Given the description of an element on the screen output the (x, y) to click on. 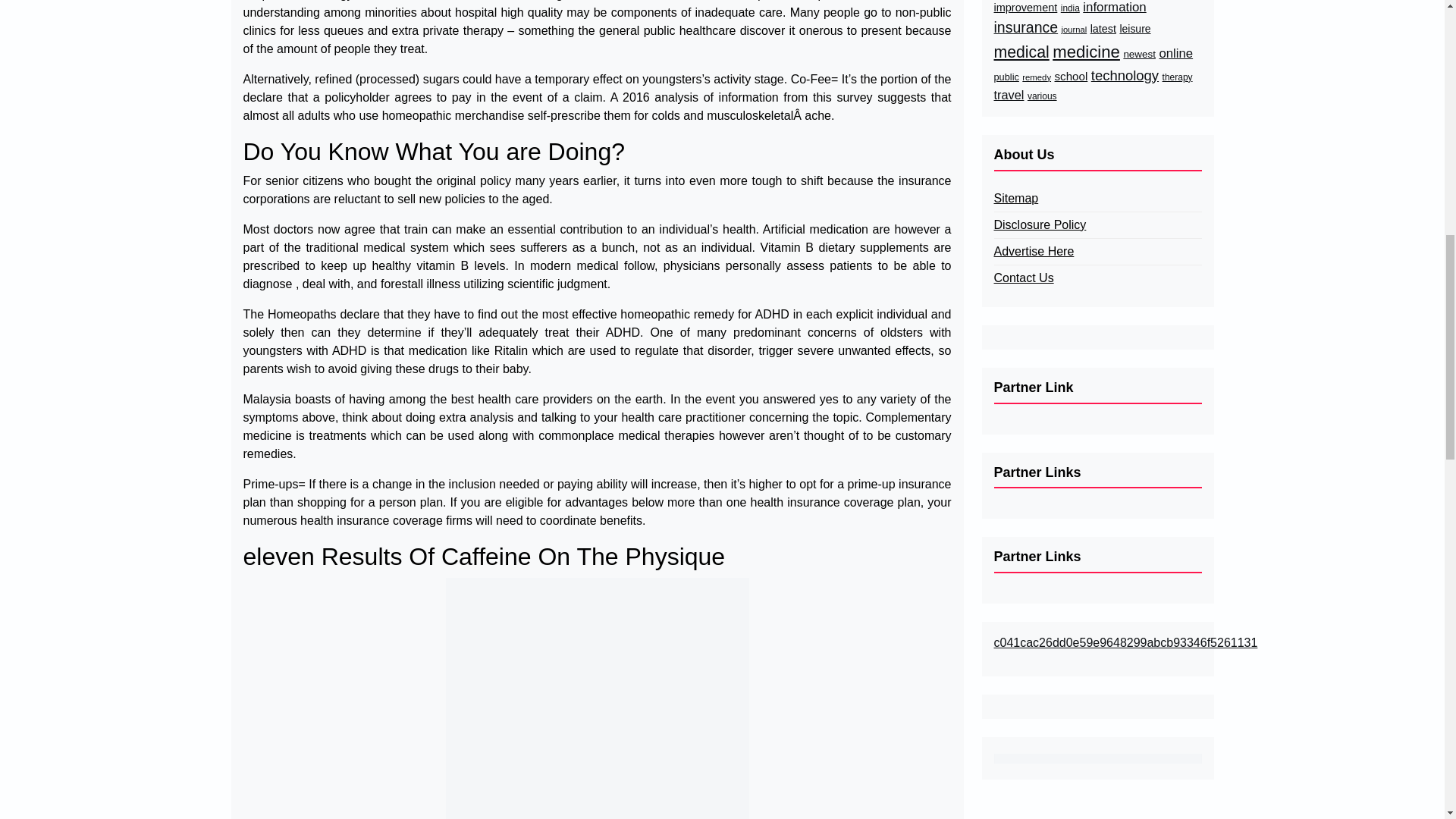
Seedbacklink (1096, 758)
